Given the description of an element on the screen output the (x, y) to click on. 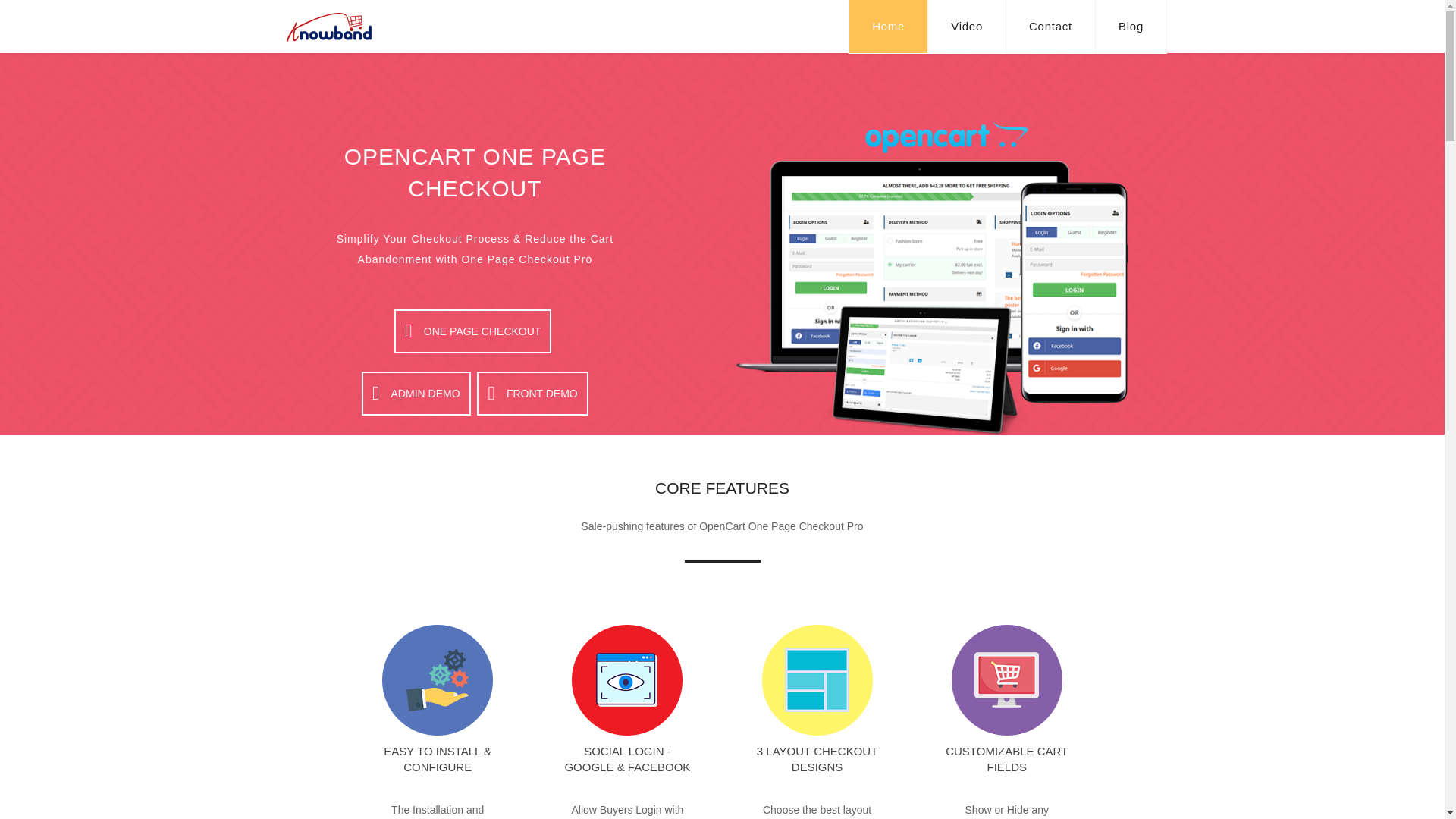
Blog (1131, 26)
ADMIN DEMO (415, 393)
FRONT DEMO (532, 393)
Video (967, 26)
Home (888, 26)
Contact (1051, 26)
ONE PAGE CHECKOUT (472, 331)
